Given the description of an element on the screen output the (x, y) to click on. 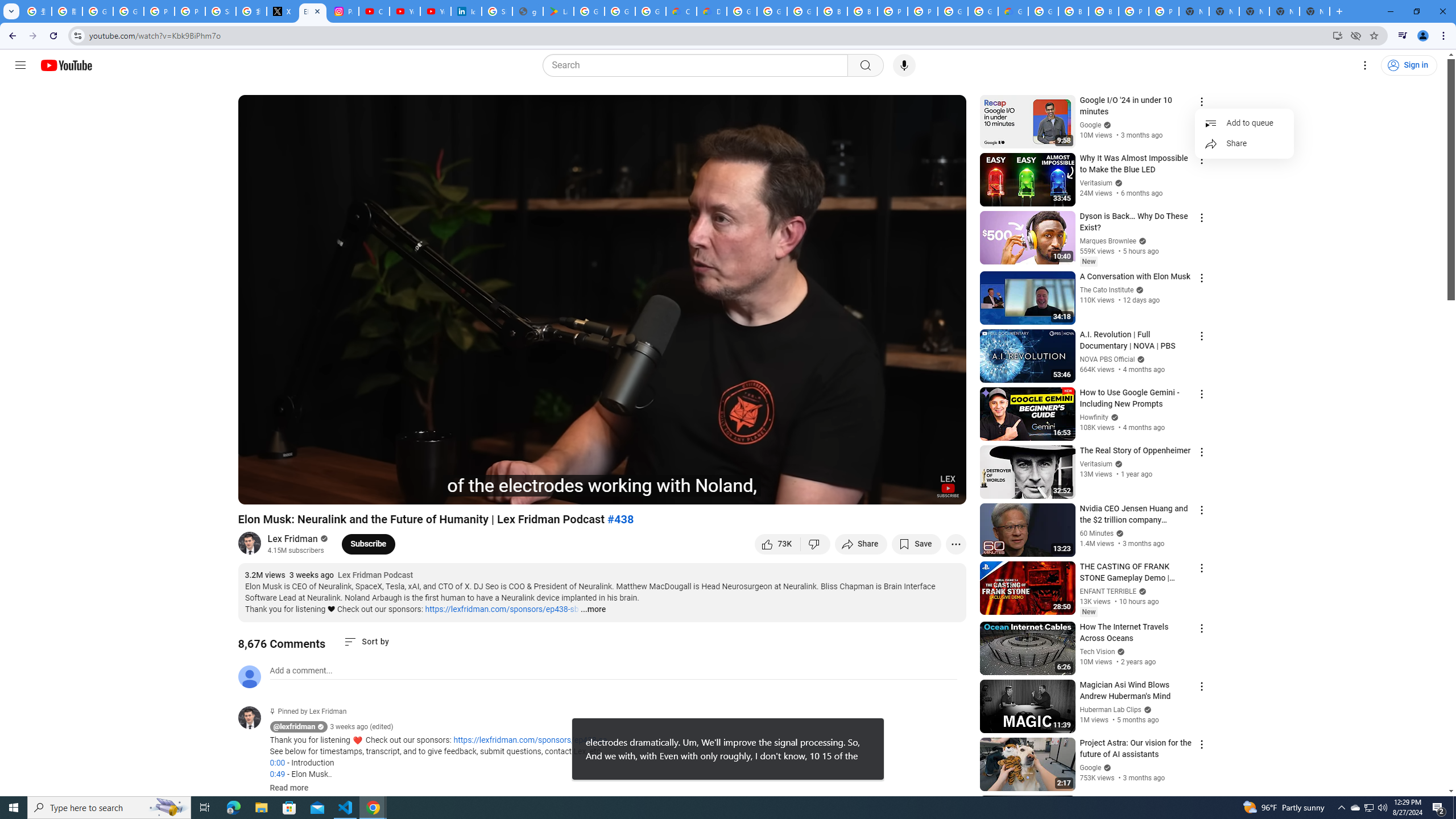
@lexfridman (253, 717)
Last Shelter: Survival - Apps on Google Play (558, 11)
Full screen (f) (945, 490)
0:00 (277, 763)
Verified (1106, 767)
Customer Care | Google Cloud (681, 11)
X (282, 11)
Google Cloud Platform (952, 11)
